Given the description of an element on the screen output the (x, y) to click on. 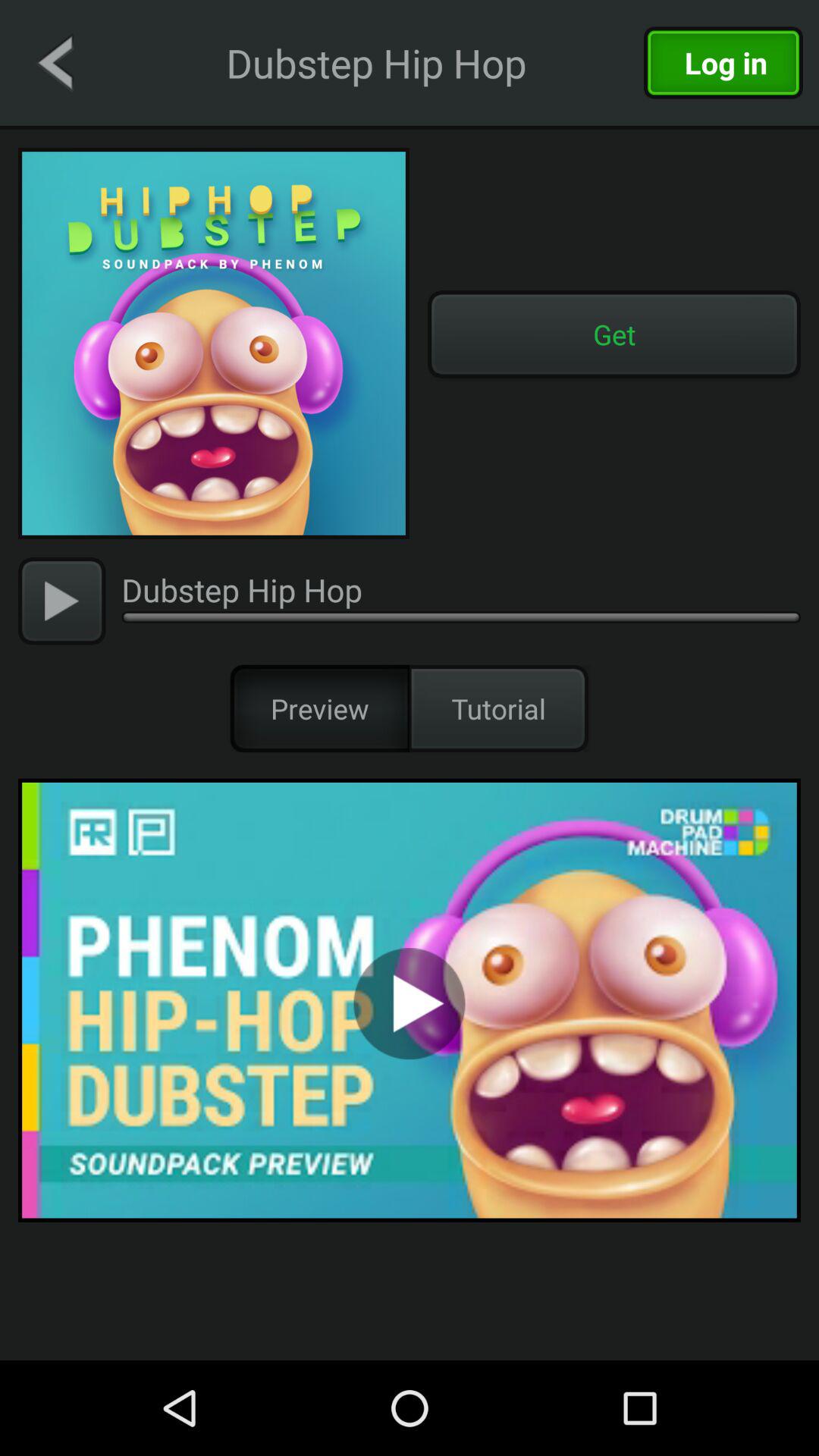
the hip hop dubstep picture (213, 343)
